Given the description of an element on the screen output the (x, y) to click on. 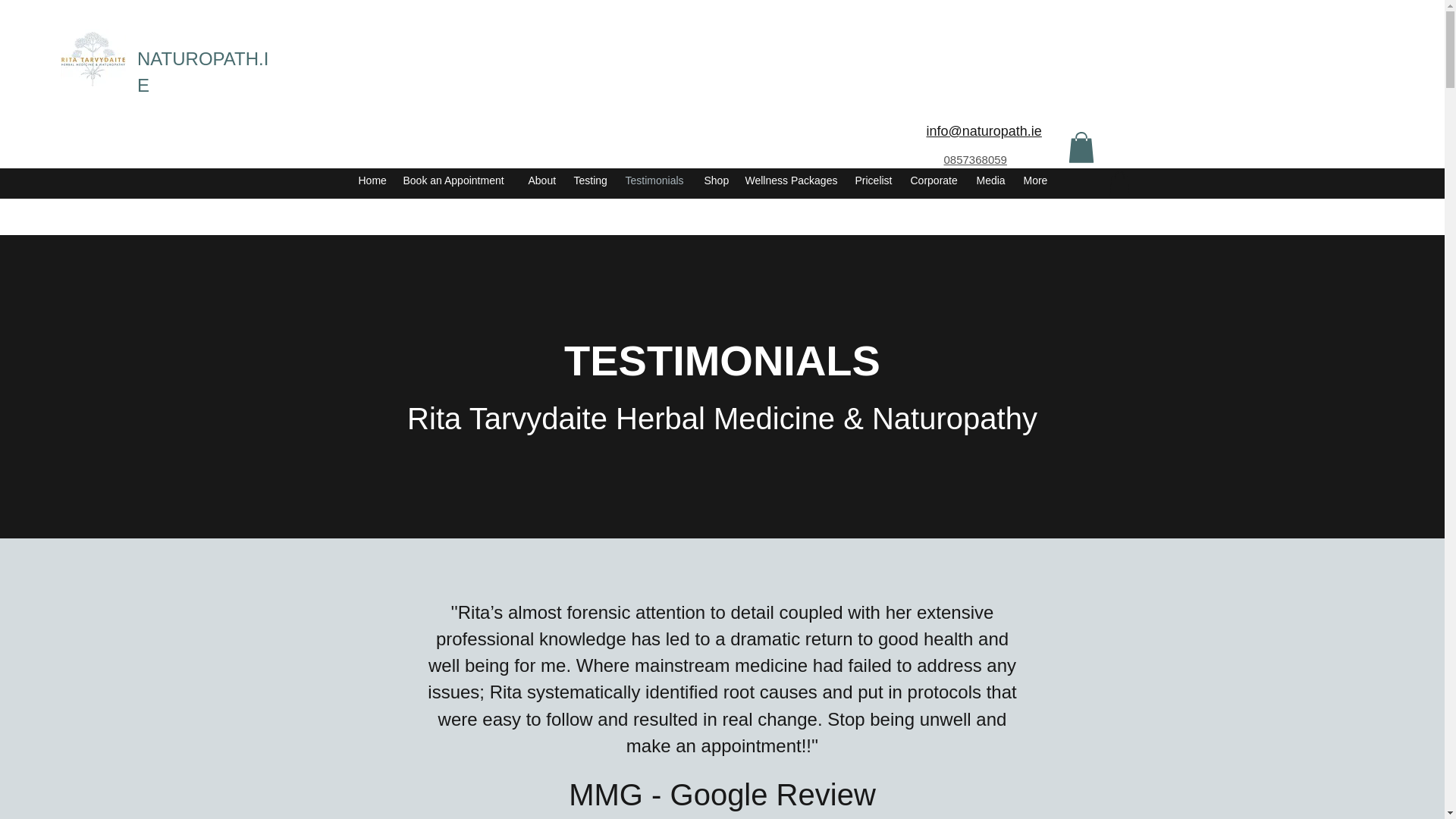
0857368059 (974, 159)
Testimonials (656, 179)
Home (372, 179)
Testing (591, 179)
Wellness Packages (791, 179)
Corporate (935, 179)
About (542, 179)
Media (992, 179)
Book an Appointment (458, 179)
Pricelist (874, 179)
